Given the description of an element on the screen output the (x, y) to click on. 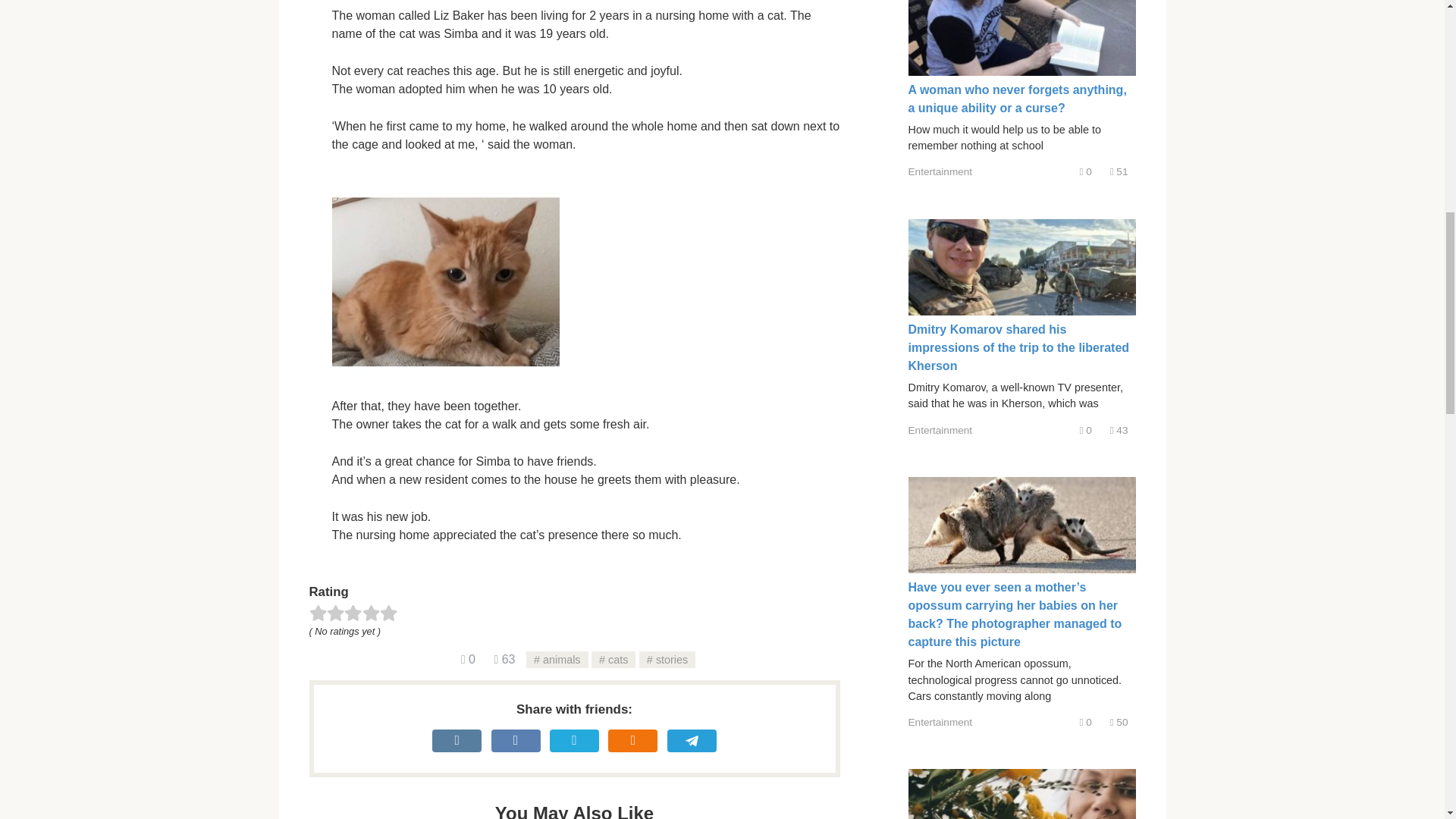
Entertainment (940, 430)
Entertainment (940, 722)
Entertainment (940, 171)
Views (504, 658)
stories (667, 659)
animals (556, 659)
Comments (468, 658)
cats (612, 659)
